Given the description of an element on the screen output the (x, y) to click on. 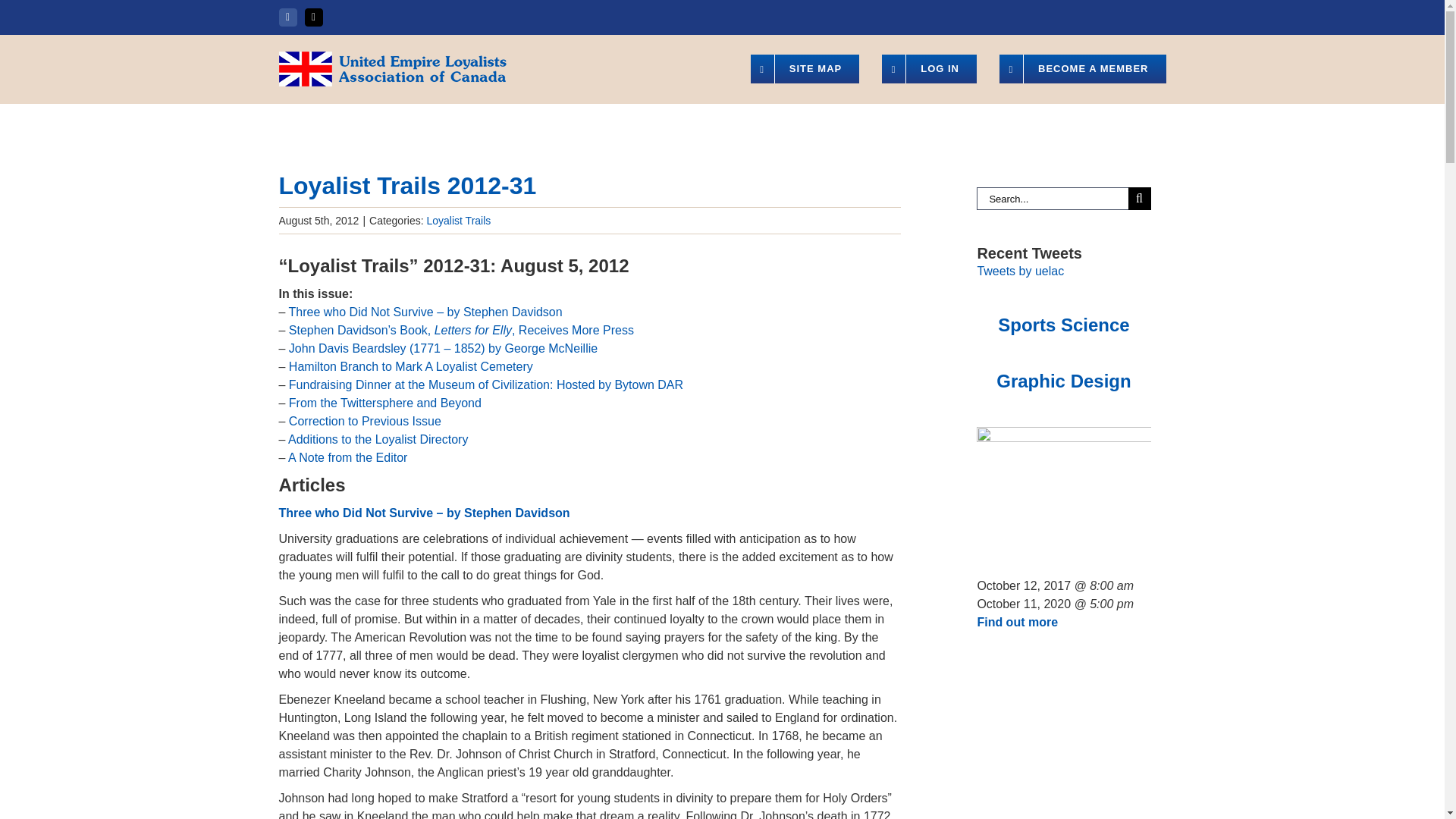
X (313, 17)
From the Twittersphere and Beyond (384, 402)
BECOME A MEMBER (1082, 69)
LOG IN (929, 69)
SITE MAP (805, 69)
Loyalist Trails (458, 220)
Hamilton Branch to Mark A Loyalist Cemetery (410, 366)
Facebook (288, 17)
A Note from the Editor (347, 457)
Additions to the Loyalist Directory (377, 439)
Correction to Previous Issue (364, 420)
